Given the description of an element on the screen output the (x, y) to click on. 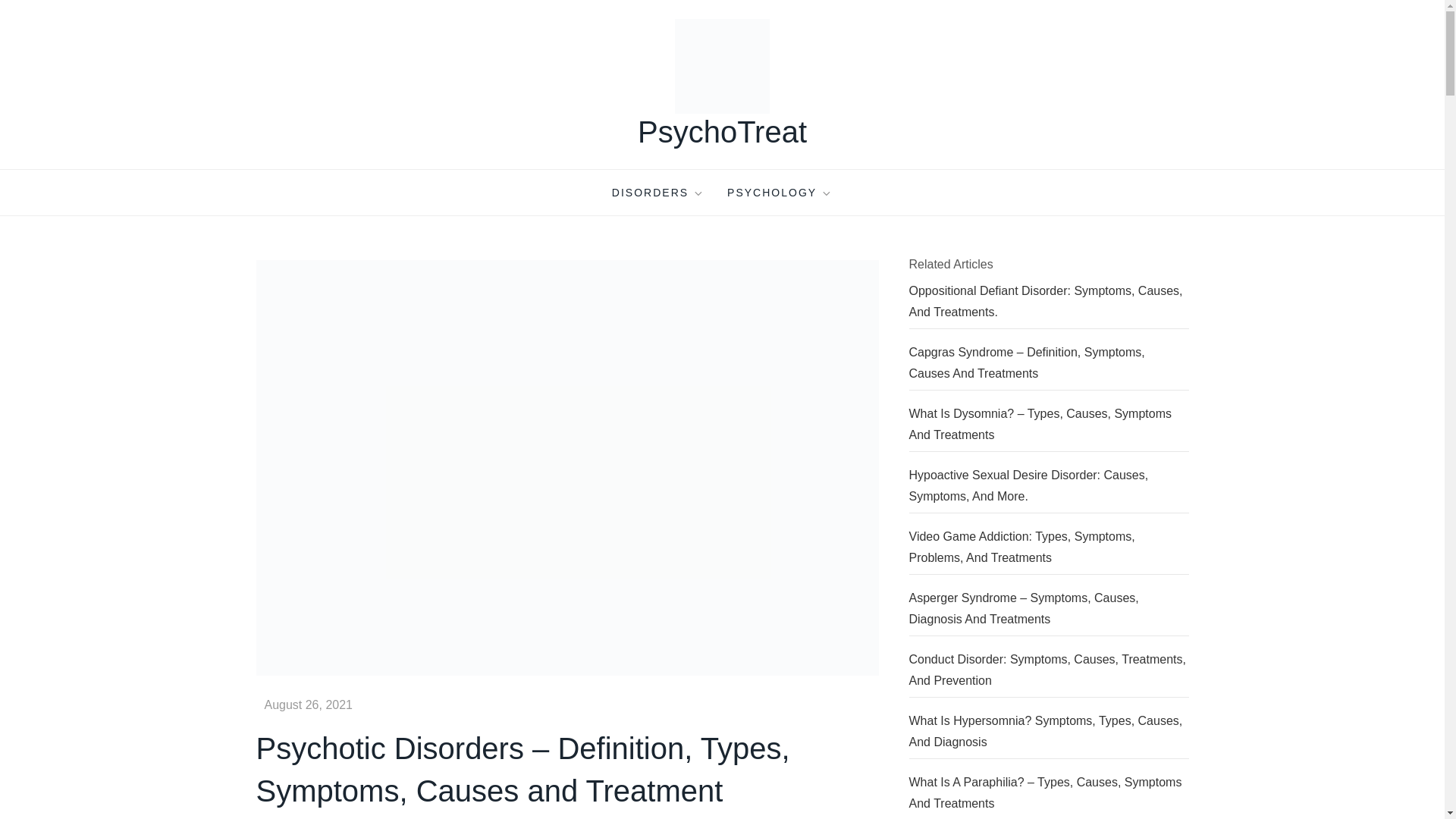
PsychoTreat (721, 131)
DISORDERS (657, 192)
PSYCHOLOGY (780, 192)
August 26, 2021 (307, 704)
